Given the description of an element on the screen output the (x, y) to click on. 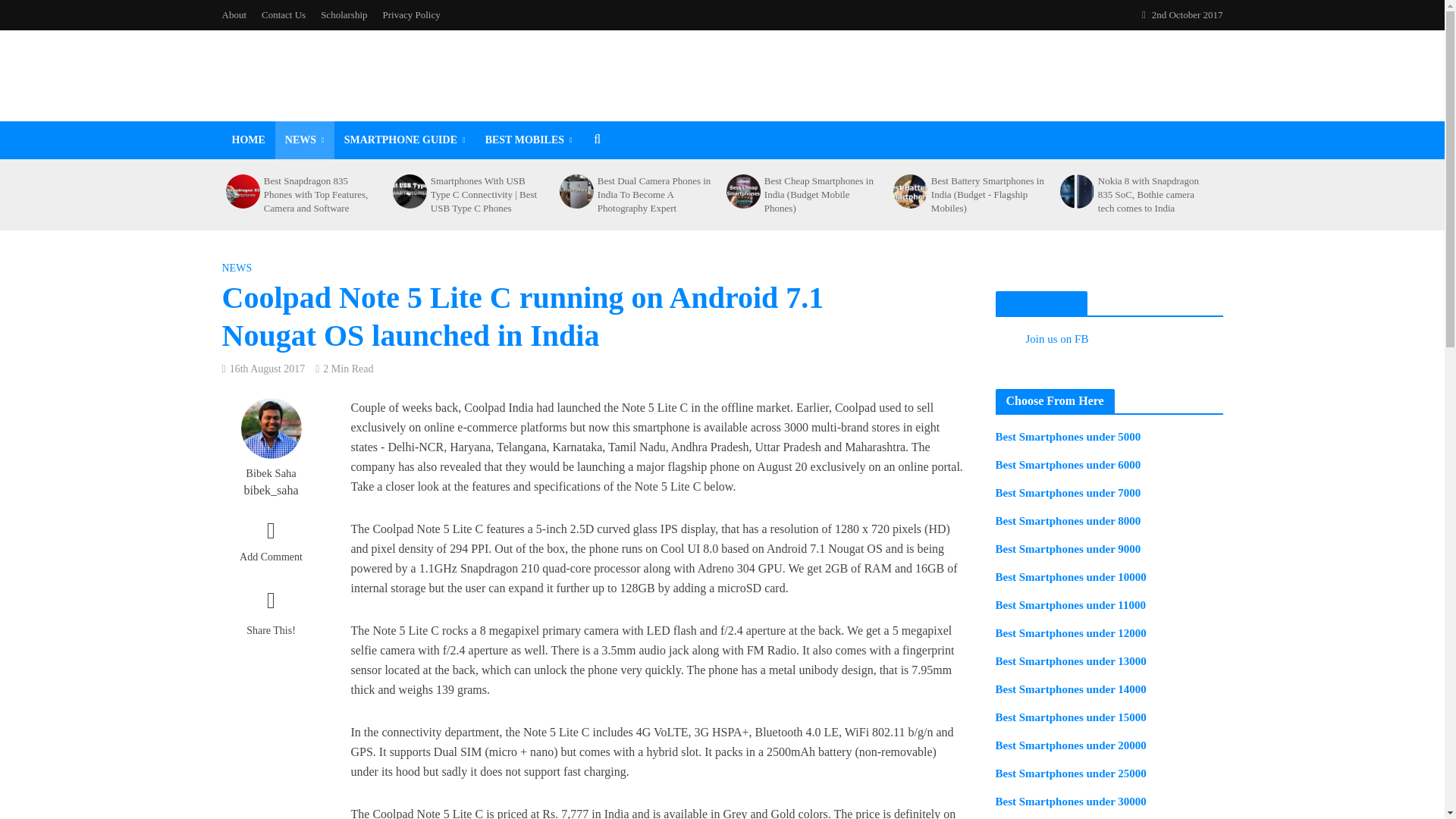
Privacy Policy (411, 15)
NEWS (304, 139)
SMARTPHONE GUIDE (405, 139)
About (237, 15)
Contact Us (283, 15)
Scholarship (343, 15)
HOME (248, 139)
